Given the description of an element on the screen output the (x, y) to click on. 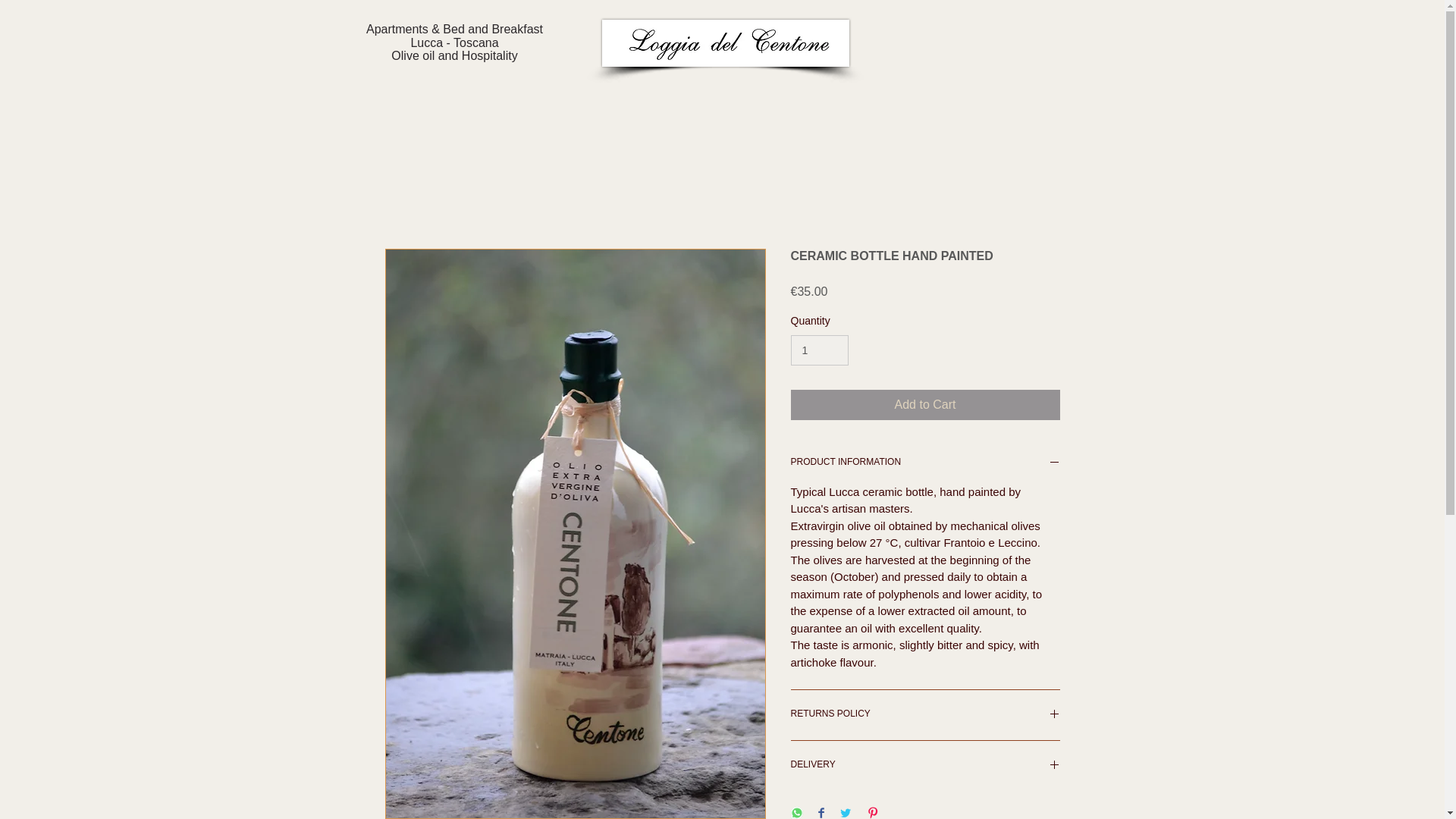
DELIVERY (924, 766)
RETURNS POLICY (924, 714)
Add to Cart (924, 404)
PRODUCT INFORMATION (924, 463)
1 (818, 350)
